Given the description of an element on the screen output the (x, y) to click on. 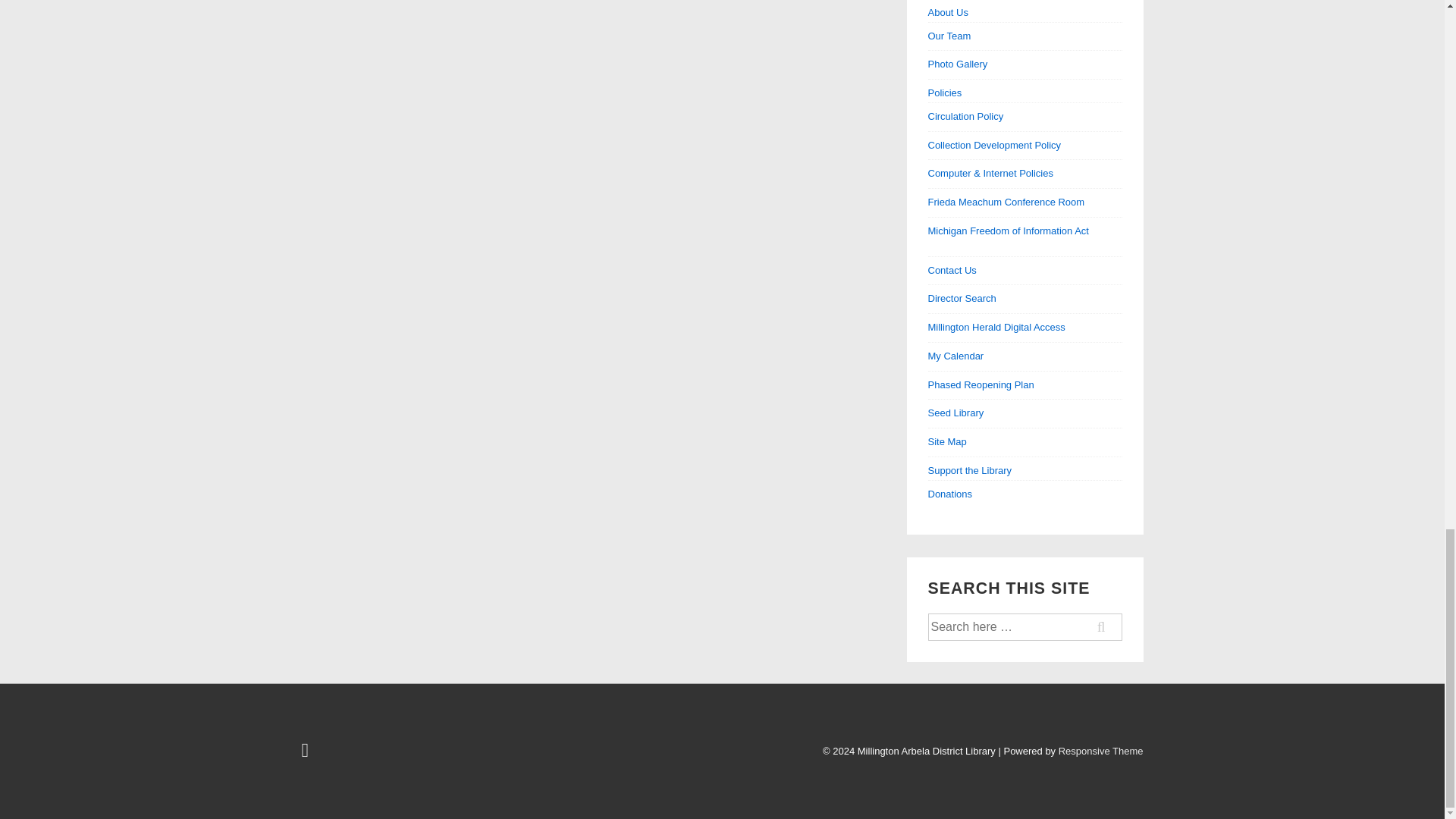
Photo Gallery (958, 63)
facebook (307, 753)
About Us (1025, 13)
Collection Development Policy (994, 144)
Policies (1025, 93)
Our Team (949, 35)
Circulation Policy (966, 116)
